Given the description of an element on the screen output the (x, y) to click on. 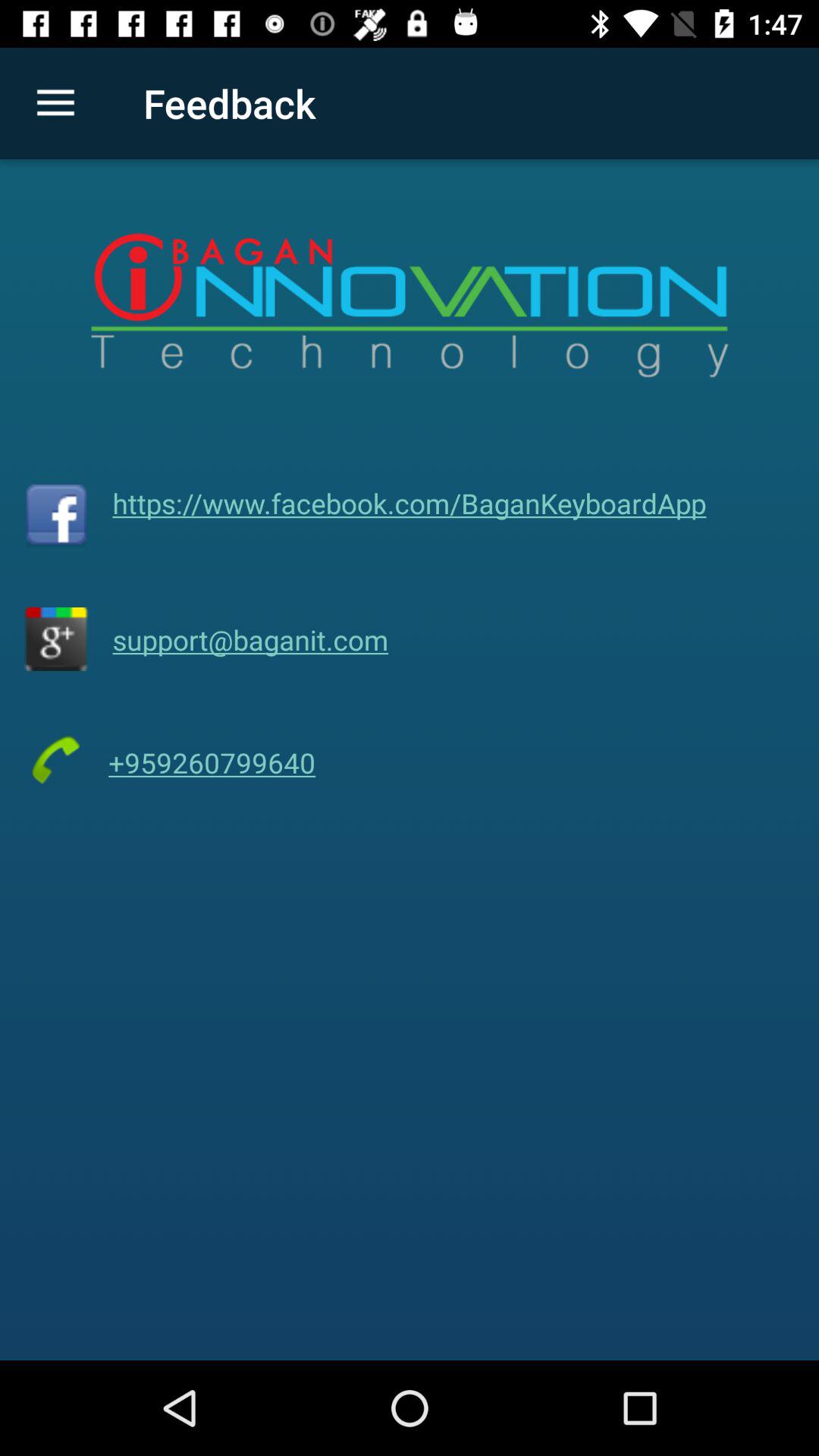
choose the icon next to feedback (55, 103)
